Given the description of an element on the screen output the (x, y) to click on. 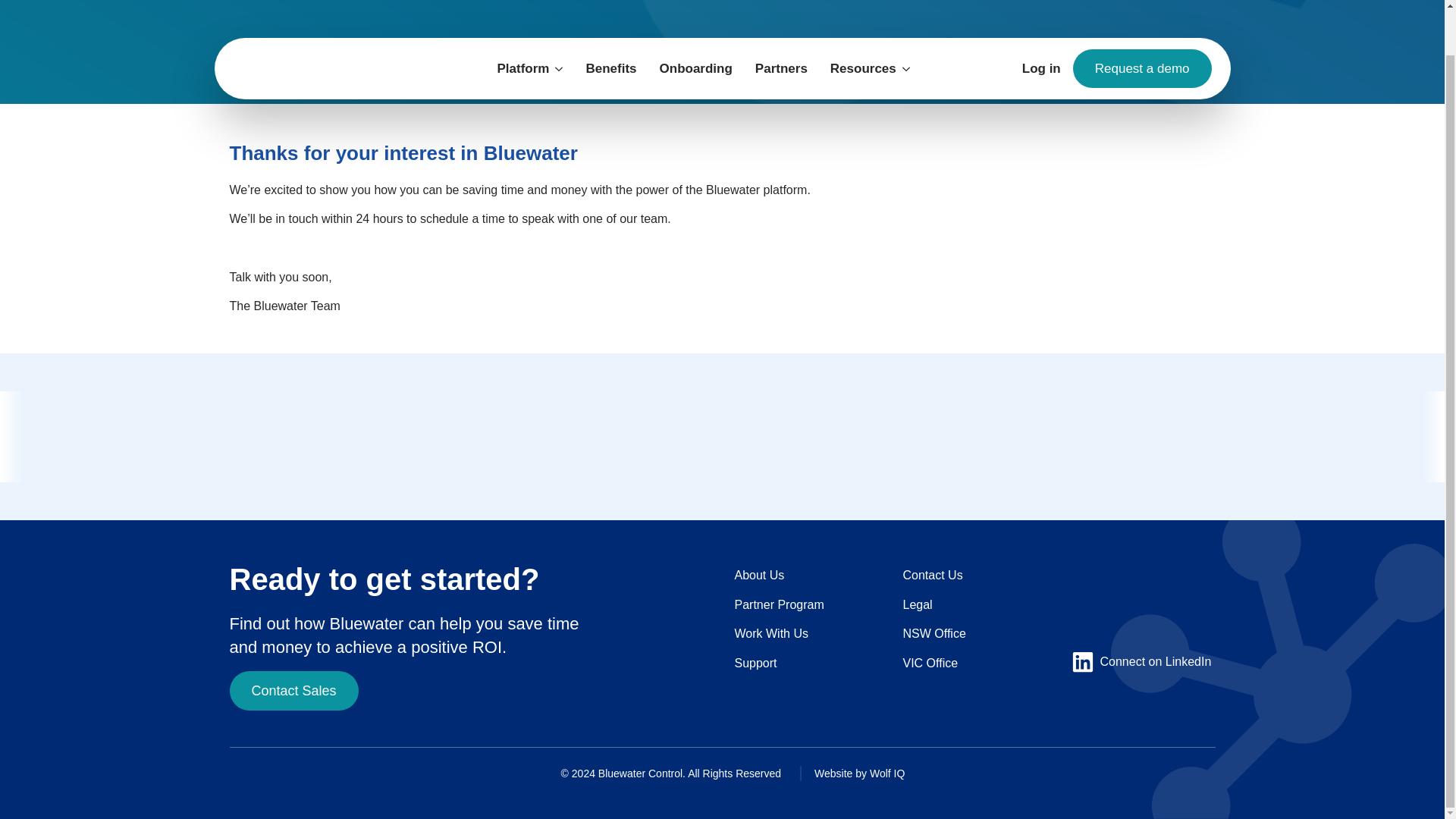
Work With Us (770, 633)
Partner Program (778, 604)
NSW Office (933, 633)
Log in (1041, 21)
Request a demo (1142, 20)
Contact Sales (293, 690)
About Us (758, 575)
Legal (916, 604)
Partners (781, 20)
Connect on LinkedIn (1140, 661)
Support (754, 663)
Contact Us (932, 575)
Website by Wolf IQ (848, 773)
Resources (857, 20)
Benefits (610, 20)
